Given the description of an element on the screen output the (x, y) to click on. 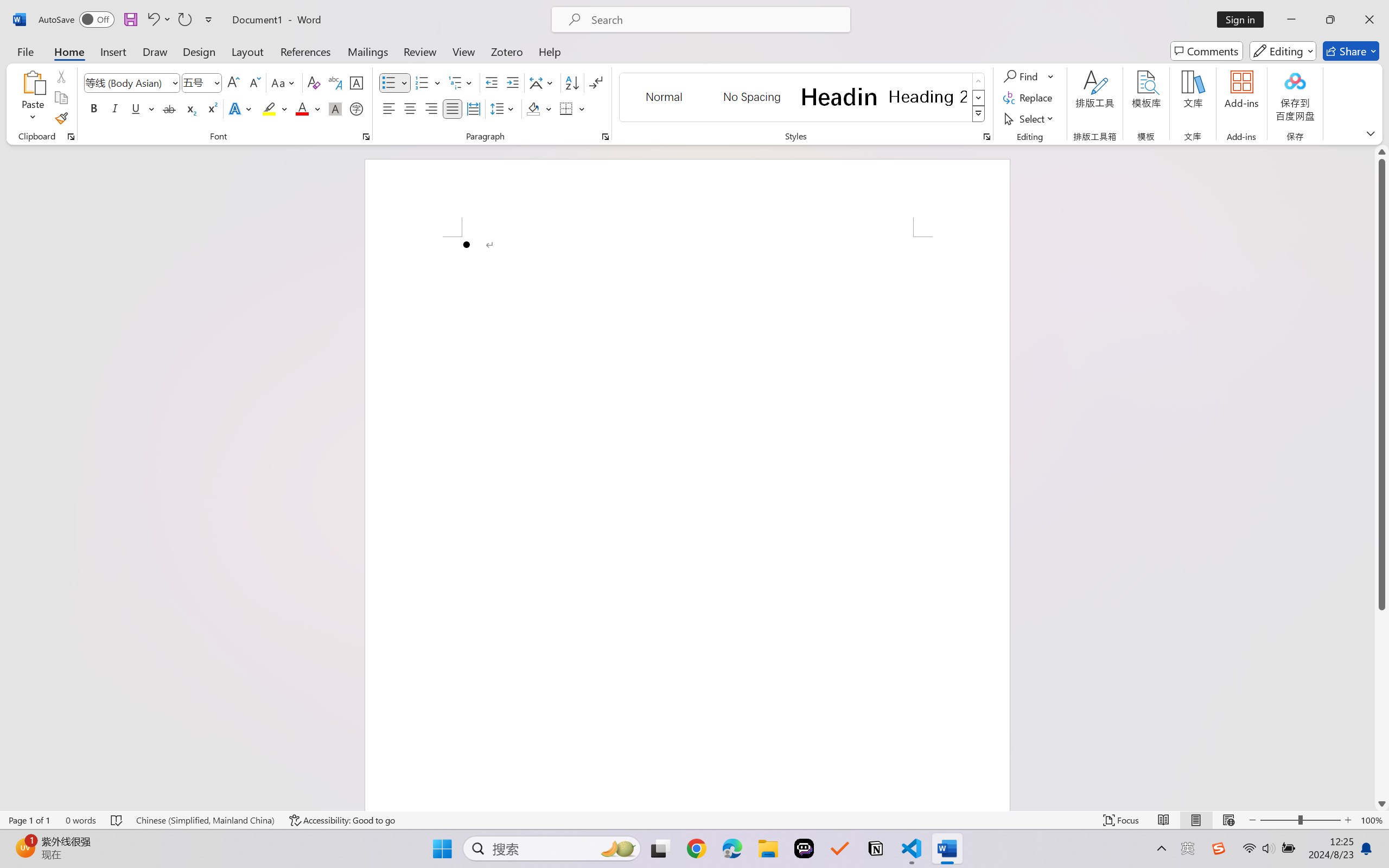
Language Chinese (Simplified, Mainland China) (205, 819)
